Given the description of an element on the screen output the (x, y) to click on. 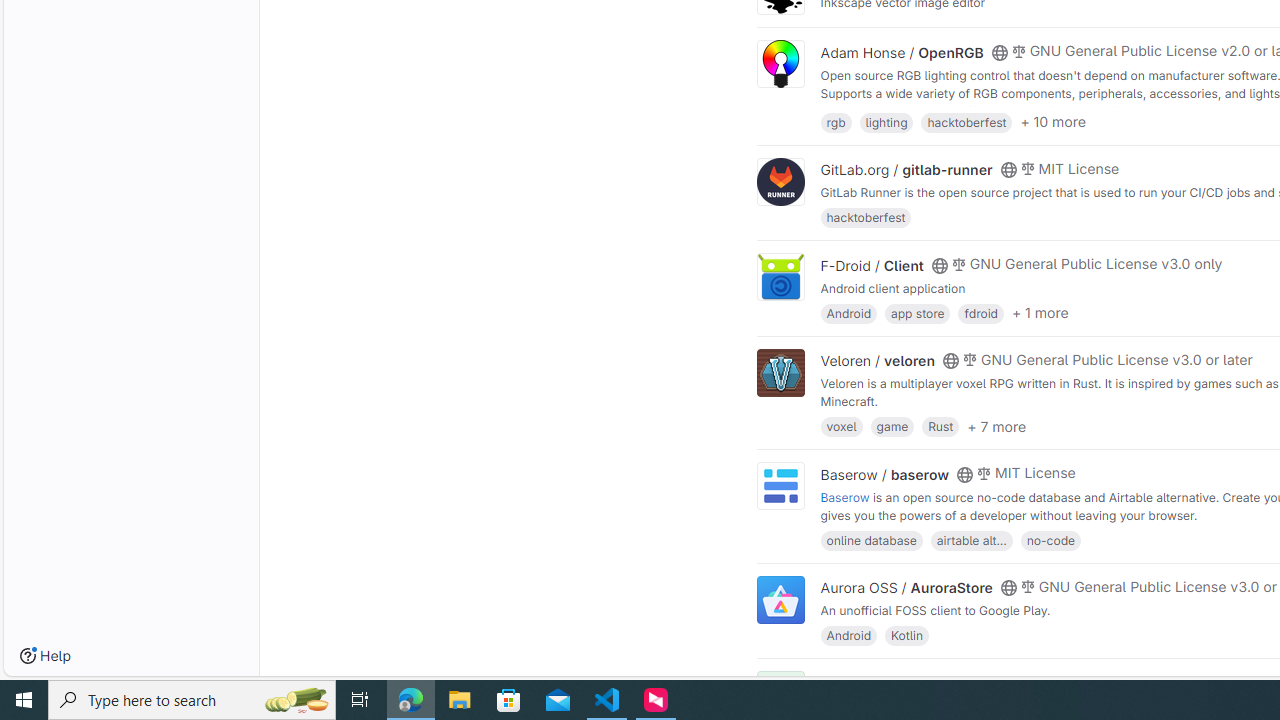
Class: project (780, 599)
Microsoft Store (509, 699)
Class: s14 gl-mr-2 (1018, 681)
Class: s16 (999, 683)
rgb (836, 120)
https://openrgb.org (989, 110)
Visual Studio Code - 1 running window (607, 699)
+ 7 more (996, 425)
+ 10 more (1053, 121)
File Explorer (460, 699)
GitLab.org / gitlab-runner (906, 170)
Baserow (845, 496)
Adam Honse / OpenRGB (902, 52)
Aurora OSS / AuroraStore (906, 587)
game (892, 426)
